Given the description of an element on the screen output the (x, y) to click on. 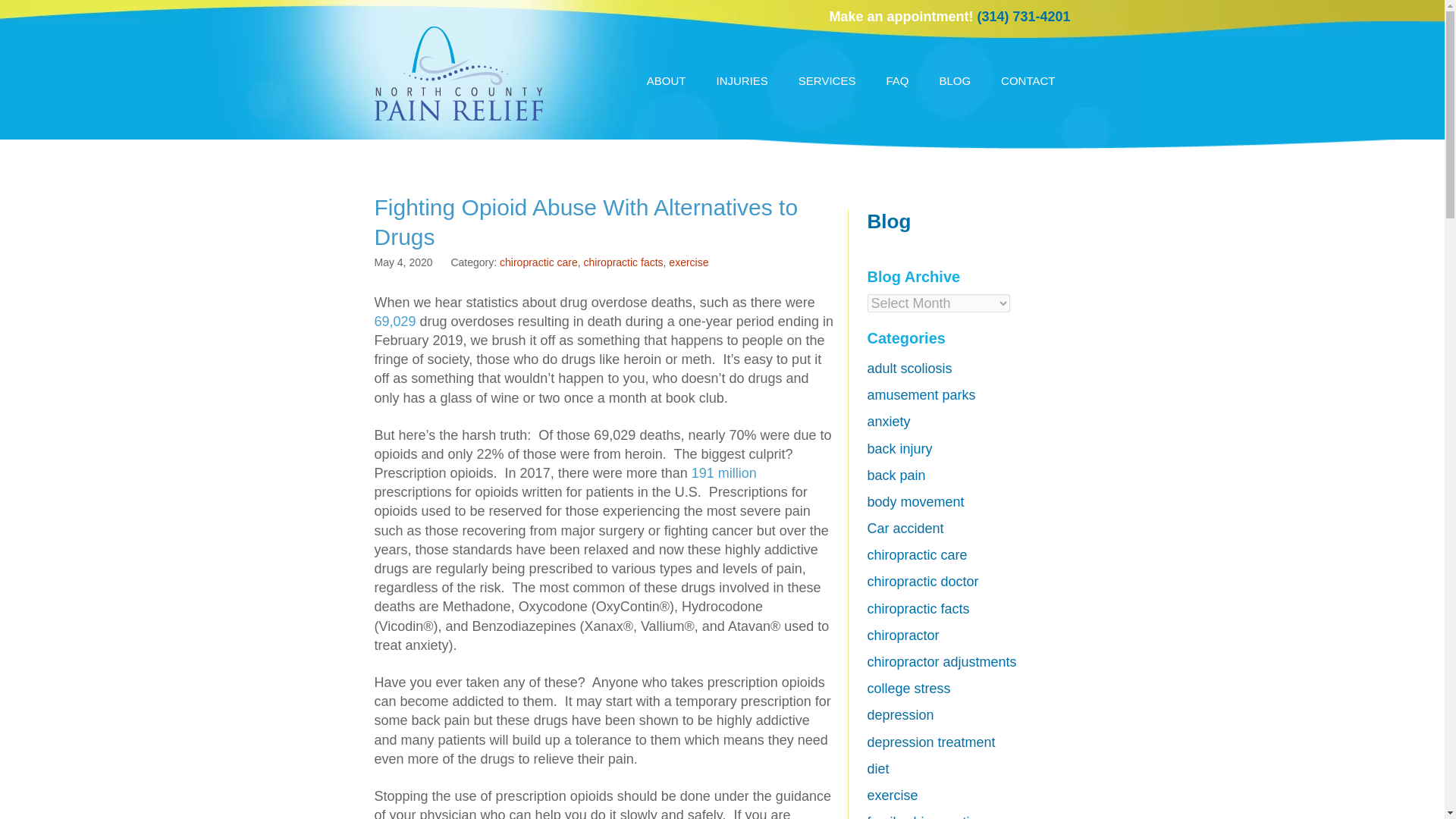
Blog Homepage (889, 220)
SERVICES (826, 80)
Skip to content (646, 72)
INJURIES (741, 80)
BLOG (954, 80)
ABOUT (666, 80)
chiropractic care (538, 262)
Skip to content (646, 72)
CONTACT (1027, 80)
